Given the description of an element on the screen output the (x, y) to click on. 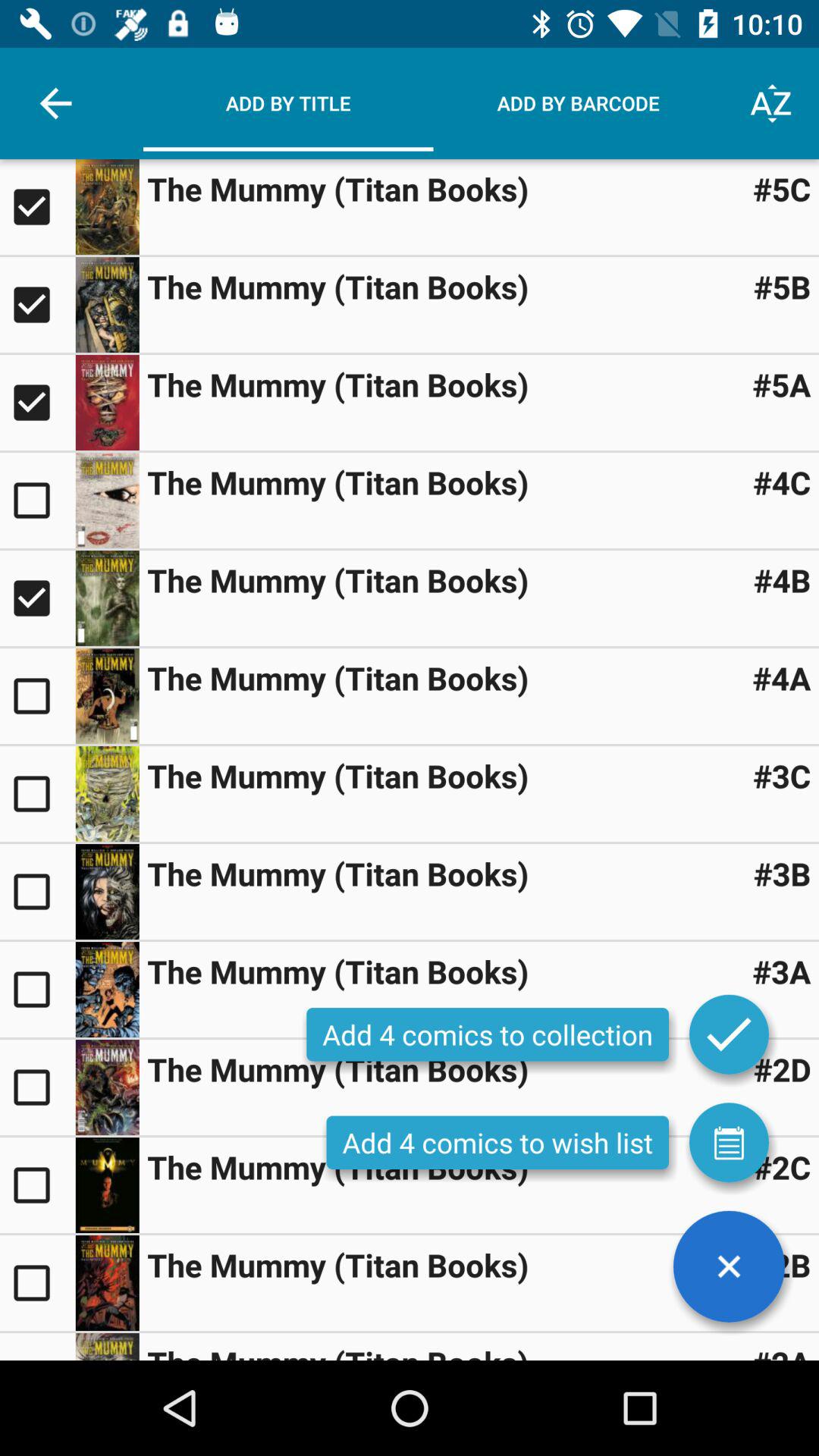
add to selected option (37, 695)
